Given the description of an element on the screen output the (x, y) to click on. 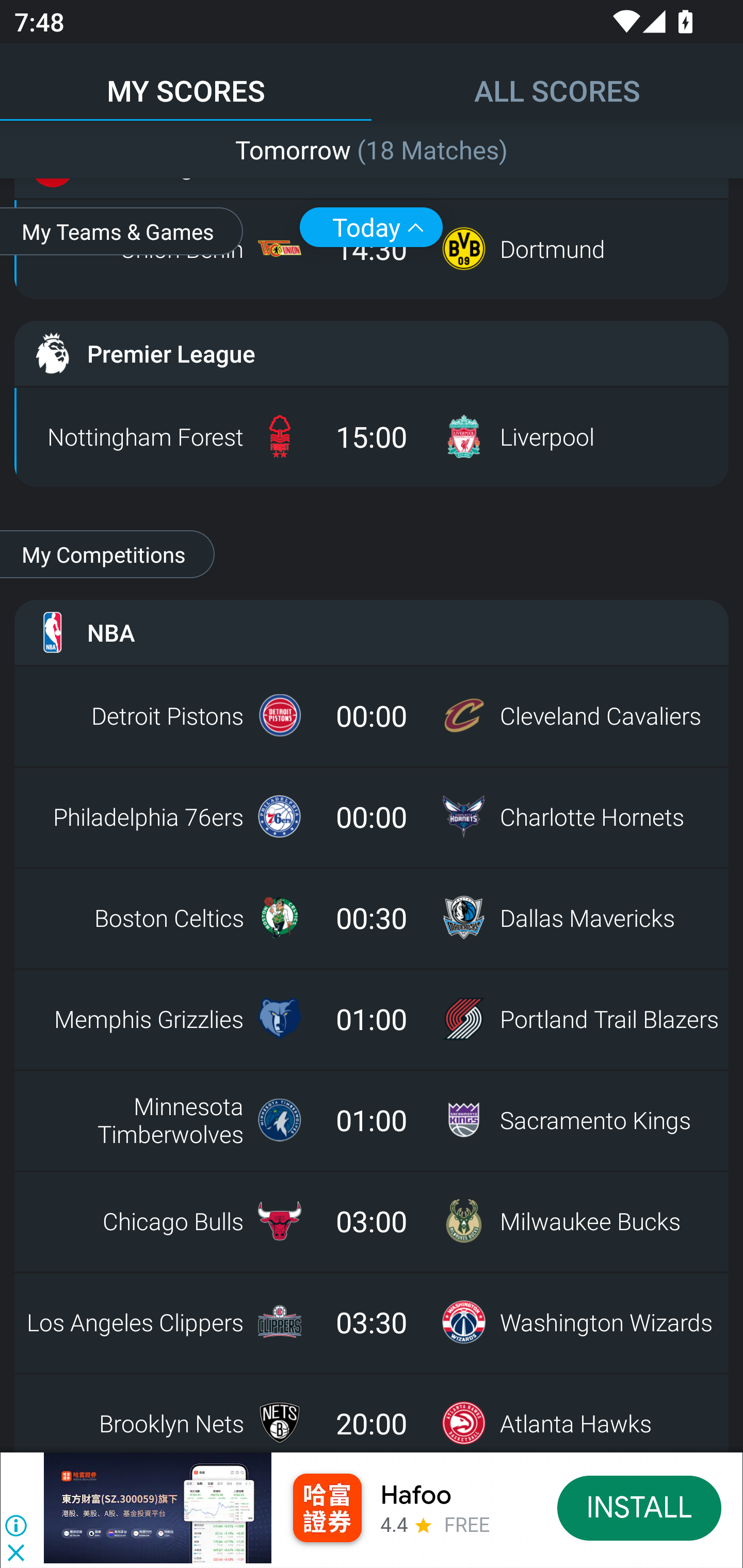
MY SCORES (185, 81)
ALL SCORES (557, 81)
Bundesliga (371, 165)
Union Berlin 14:30 Dortmund (371, 248)
Today (370, 226)
Premier League (371, 353)
Nottingham Forest 15:00 Liverpool (371, 436)
My Competitions (107, 553)
NBA (371, 632)
Detroit Pistons 00:00 Cleveland Cavaliers (371, 714)
Philadelphia 76ers 00:00 Charlotte Hornets (371, 816)
Boston Celtics 00:30 Dallas Mavericks (371, 917)
Memphis Grizzlies 01:00 Portland Trail Blazers (371, 1018)
Minnesota Timberwolves 01:00 Sacramento Kings (371, 1119)
Chicago Bulls 03:00 Milwaukee Bucks (371, 1220)
Los Angeles Clippers 03:30 Washington Wizards (371, 1321)
Brooklyn Nets 20:00 Atlanta Hawks (371, 1417)
INSTALL (639, 1507)
Hafoo (416, 1494)
